Given the description of an element on the screen output the (x, y) to click on. 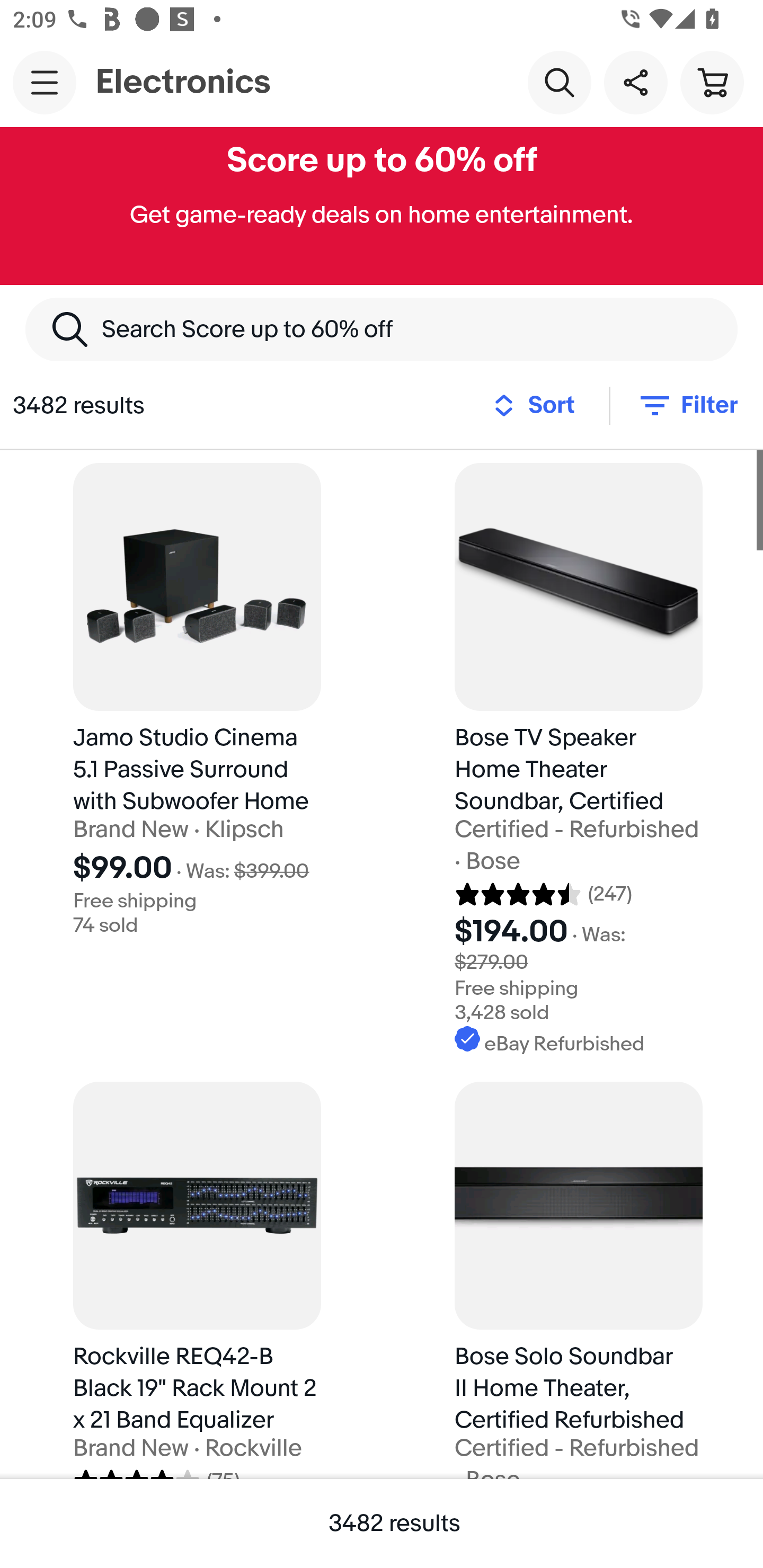
Main navigation, open (44, 82)
Search (559, 81)
Share this page (635, 81)
Cart button shopping cart (711, 81)
Search Score up to 60% off (381, 328)
Sort (538, 405)
Filter (686, 405)
